Given the description of an element on the screen output the (x, y) to click on. 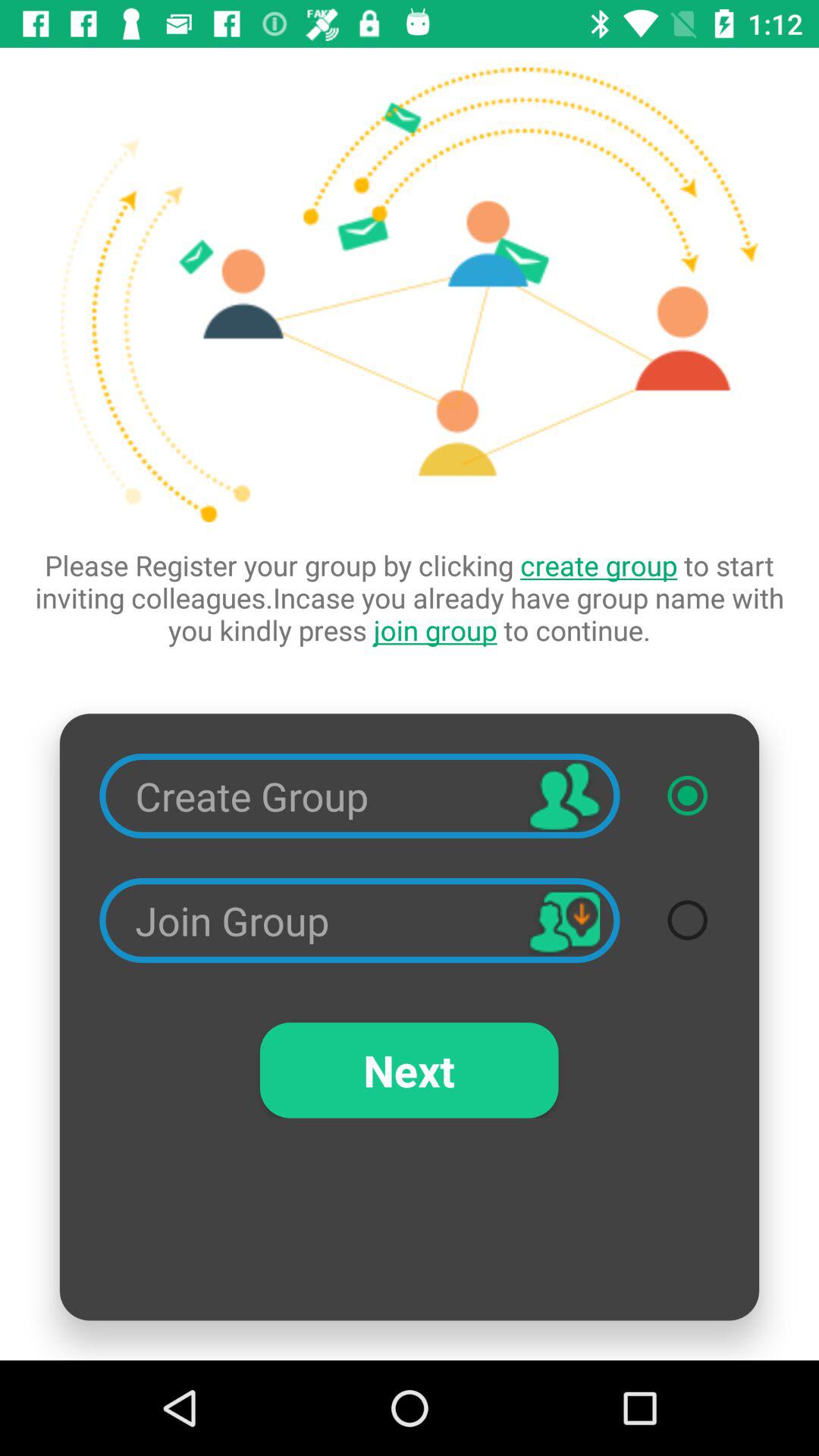
join (687, 920)
